Given the description of an element on the screen output the (x, y) to click on. 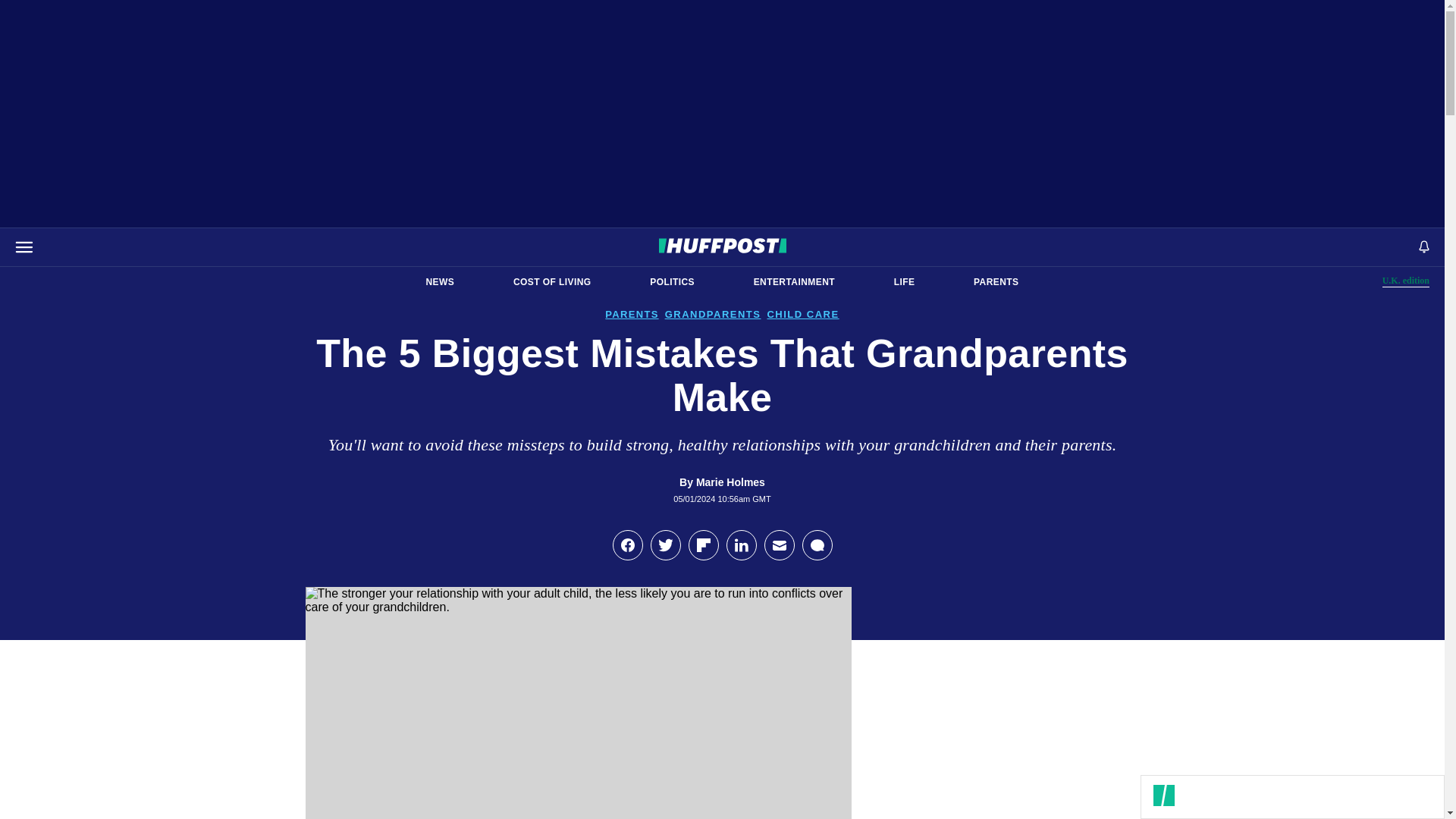
NEWS (440, 281)
LIFE (904, 281)
COST OF LIVING (1405, 281)
ENTERTAINMENT (552, 281)
POLITICS (794, 281)
PARENTS (671, 281)
